Given the description of an element on the screen output the (x, y) to click on. 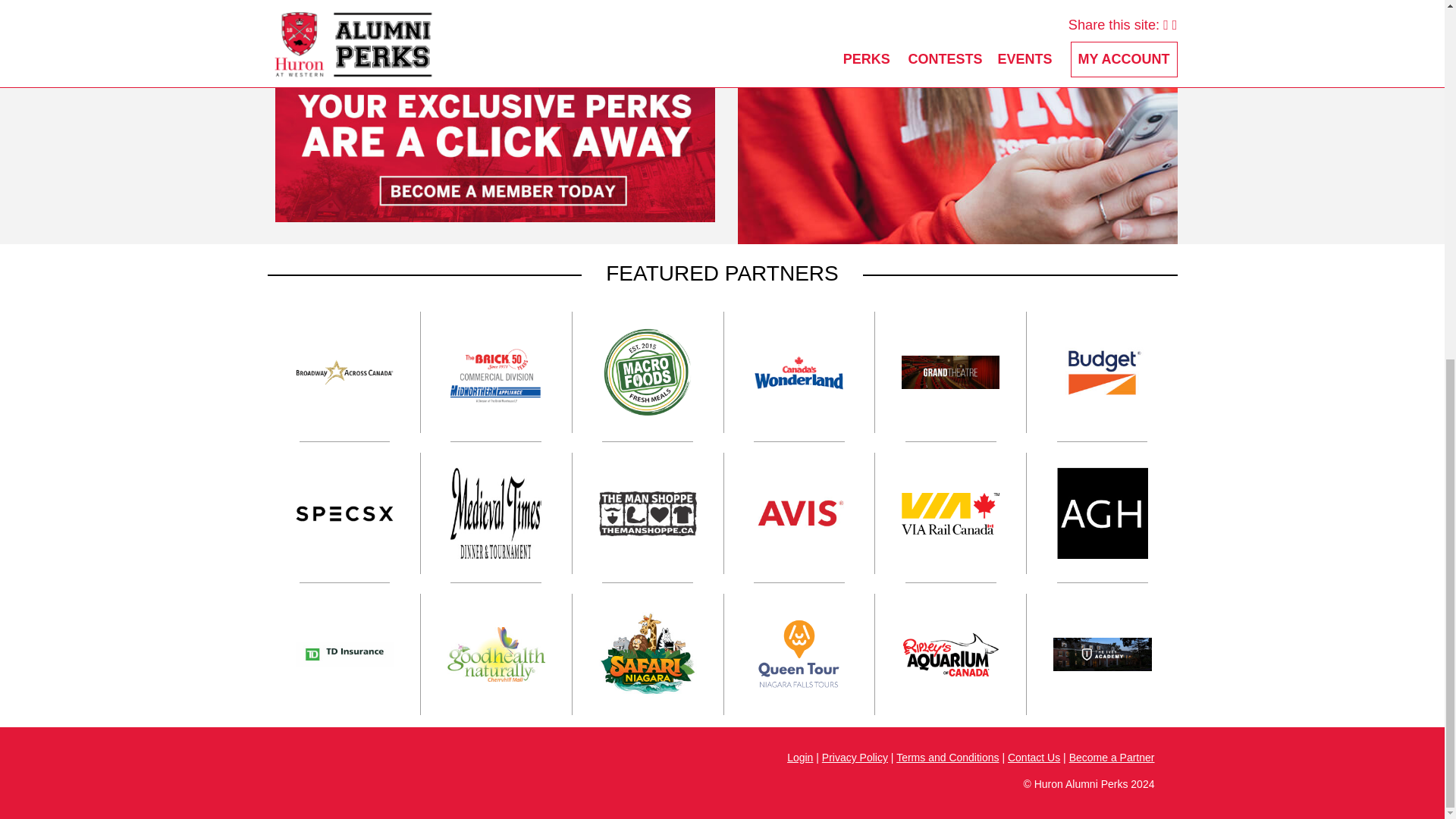
Privacy Policy (855, 757)
Contact Us (1033, 757)
Terms and Conditions (947, 757)
Become a Partner (1111, 757)
Login (799, 757)
